Given the description of an element on the screen output the (x, y) to click on. 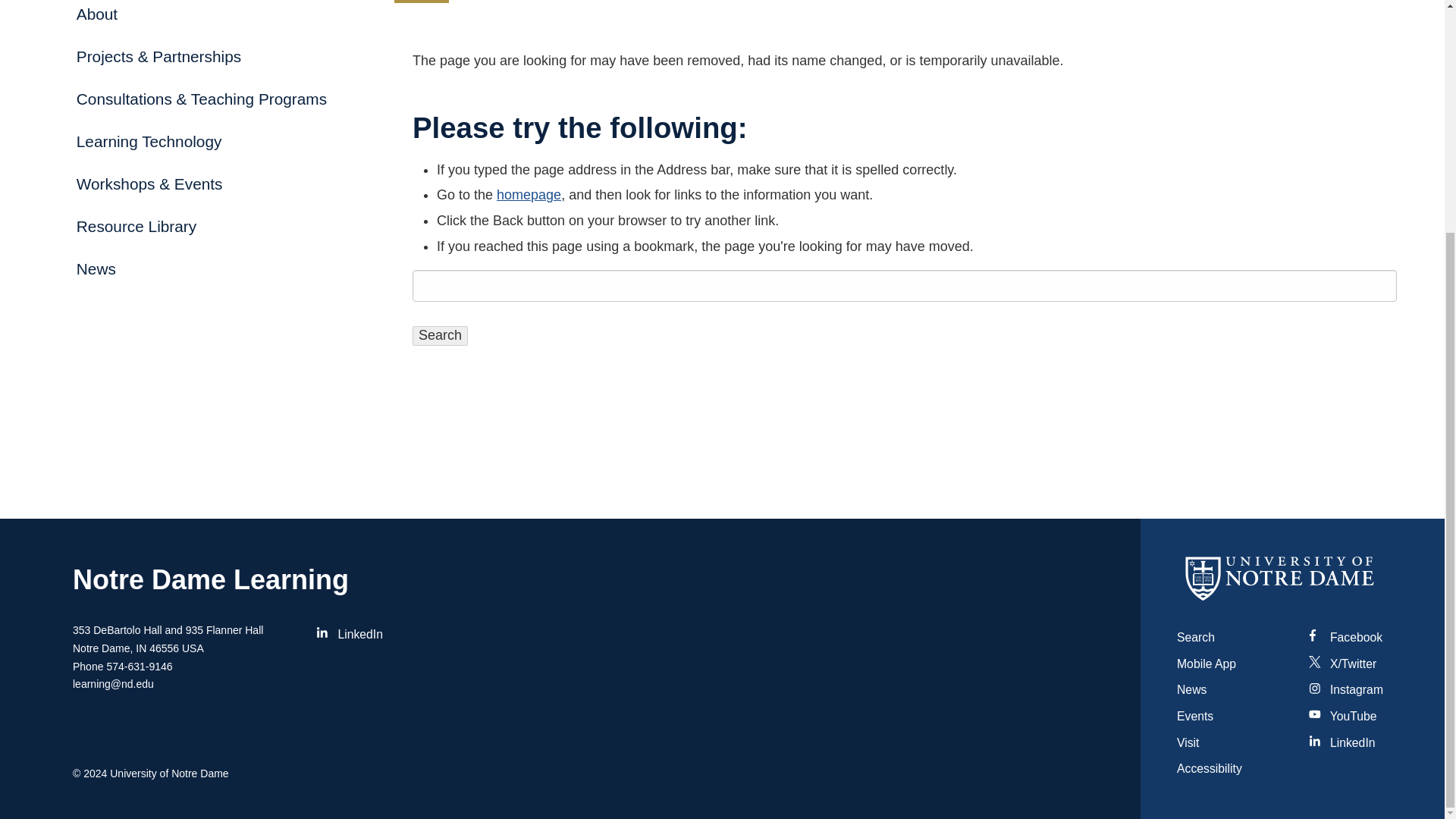
574-631-9146 (138, 667)
homepage (528, 194)
Mobile App (1206, 663)
Learning Technology (212, 141)
Notre Dame Learning (210, 579)
University of Notre Dame (169, 773)
Search (439, 335)
Search (1195, 636)
Search (439, 335)
Resource Library (212, 226)
